Given the description of an element on the screen output the (x, y) to click on. 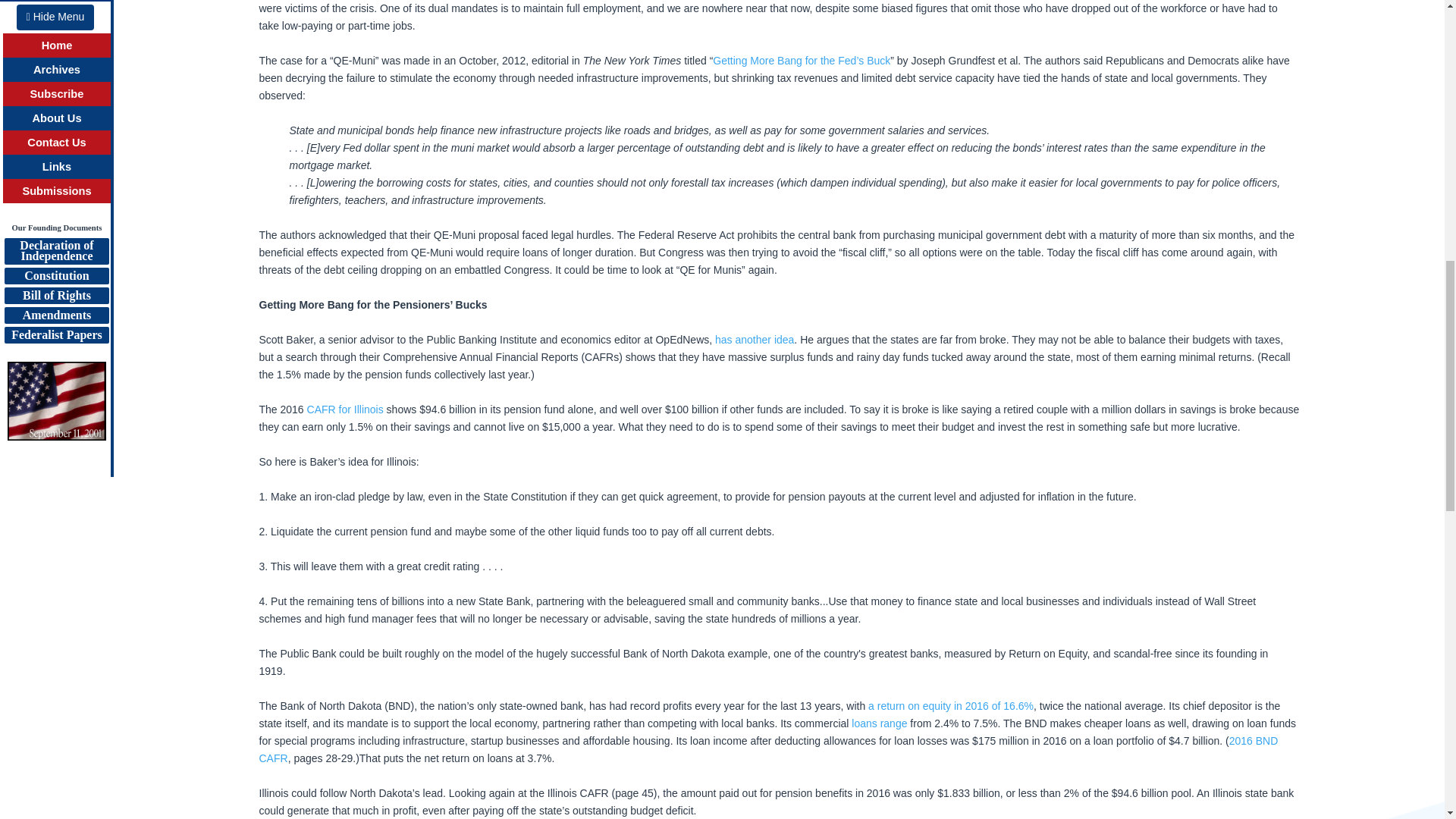
has another idea (753, 339)
loans range (879, 723)
CAFR for Illinois (345, 409)
2016 BND CAFR (768, 749)
